Given the description of an element on the screen output the (x, y) to click on. 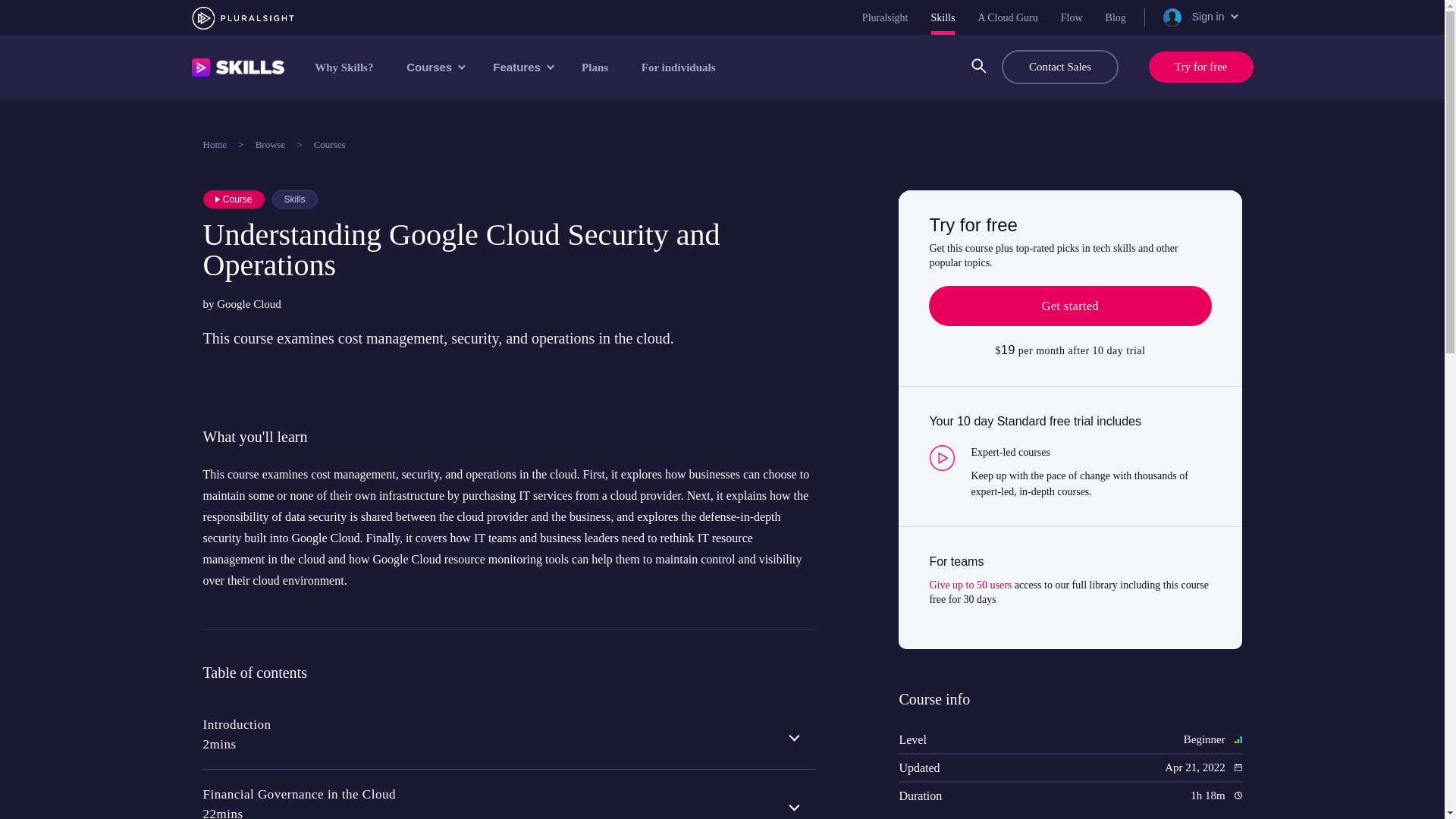
Pluralsight (884, 16)
Start free trial now (1069, 305)
Courses (434, 66)
Why Skills? (344, 66)
Blog (1115, 16)
Flow (1072, 16)
Sign in (1198, 17)
A Cloud Guru (1006, 16)
Skills (943, 16)
